Given the description of an element on the screen output the (x, y) to click on. 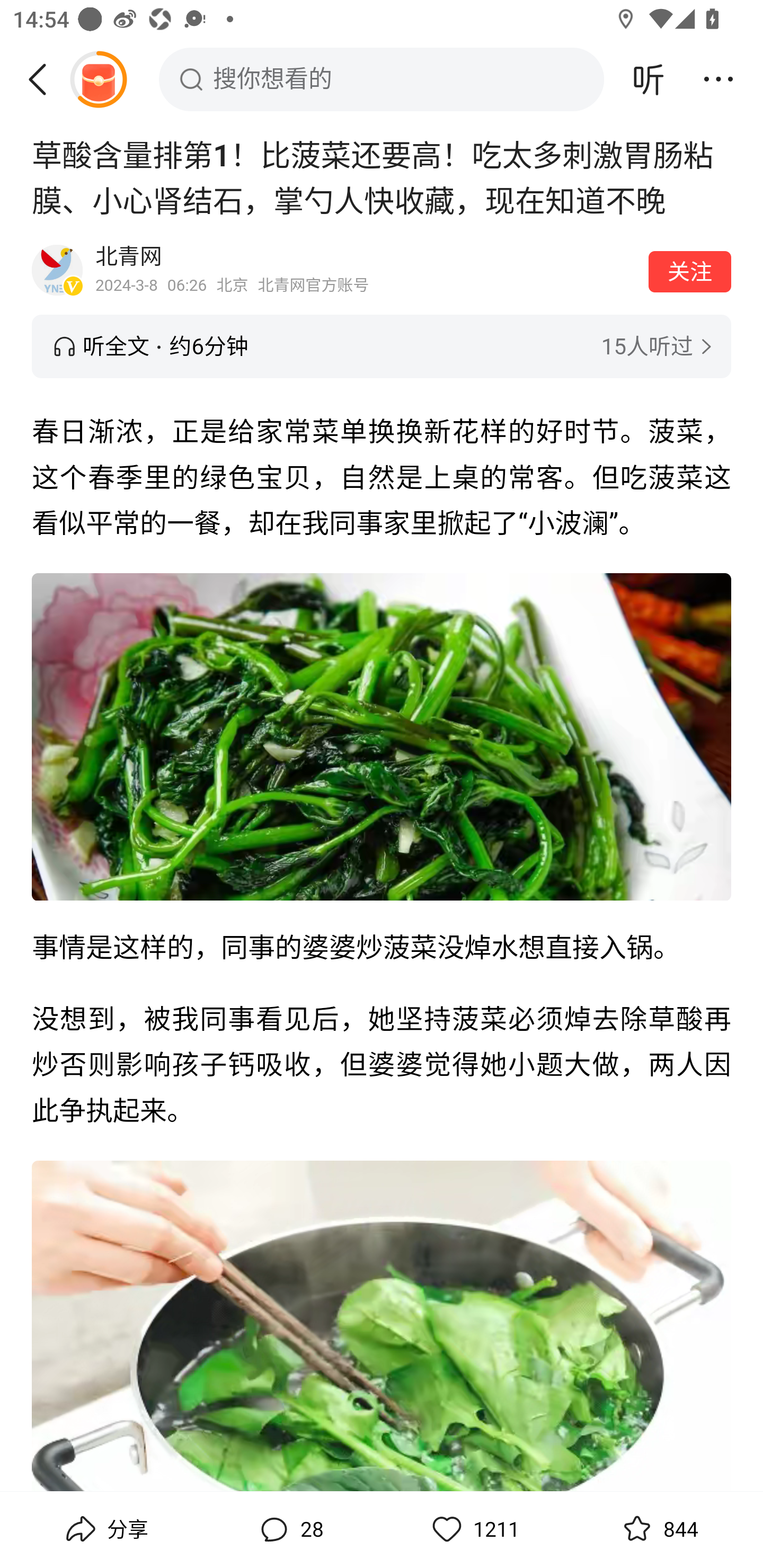
返回 (44, 78)
听头条 (648, 78)
更多操作 (718, 78)
搜你想看的 搜索框，搜你想看的 (381, 79)
阅读赚金币 (98, 79)
作者：北青网，简介：北青网官方账号，2024-3-8 06:26发布，北京 (365, 270)
关注作者 (689, 270)
听全文 约6分钟 15人听过 (381, 346)
图片，点击识别内容 (381, 736)
图片，点击识别内容 (381, 1326)
分享 (104, 1529)
评论,28 28 (288, 1529)
收藏,844 844 (658, 1529)
